Given the description of an element on the screen output the (x, y) to click on. 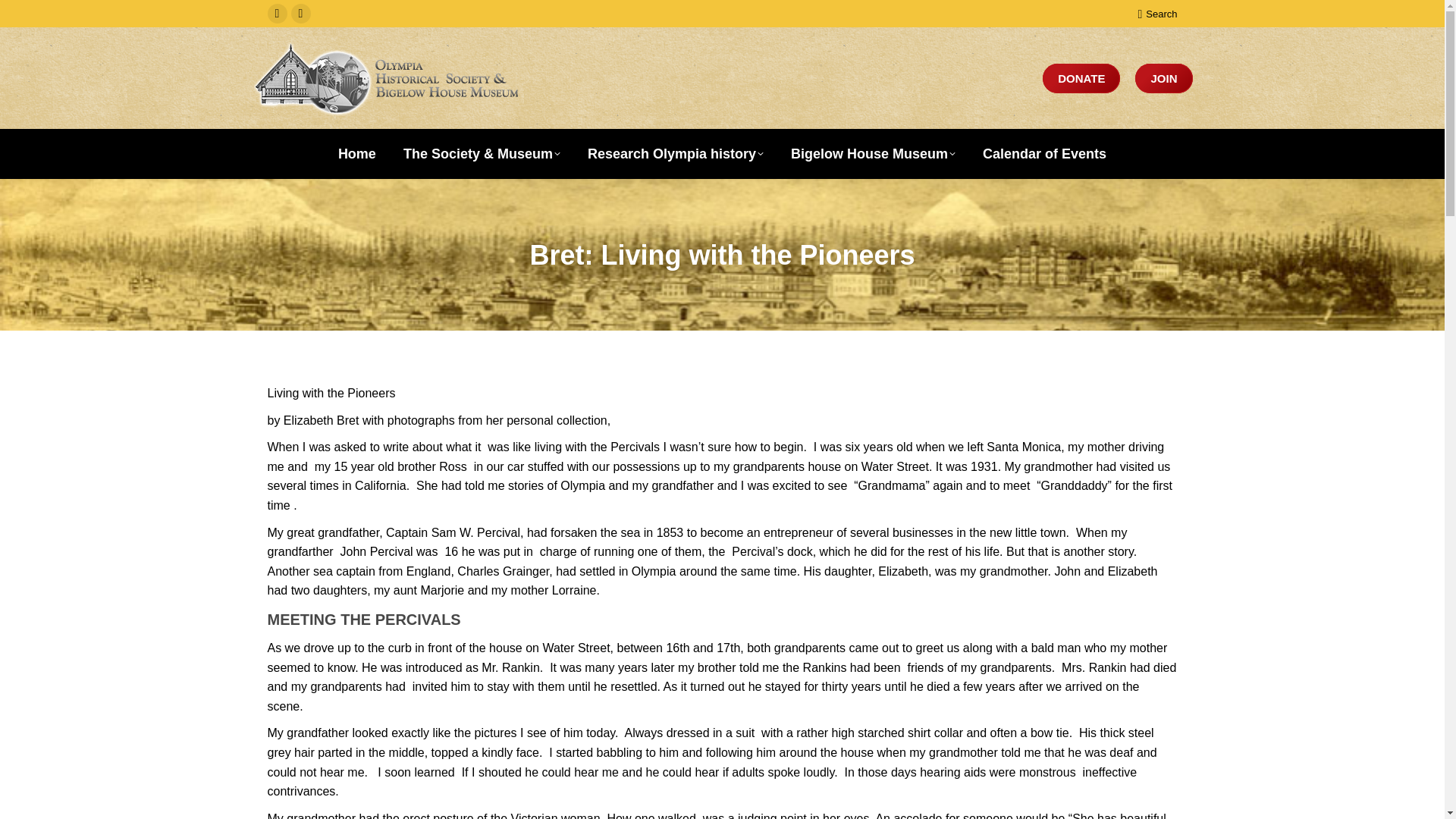
JOIN (1163, 78)
X page opens in new window (301, 13)
Search (1156, 12)
X page opens in new window (301, 13)
Research Olympia history (676, 153)
DONATE (1080, 78)
Home (356, 153)
Go! (24, 16)
Facebook page opens in new window (276, 13)
Facebook page opens in new window (276, 13)
